Given the description of an element on the screen output the (x, y) to click on. 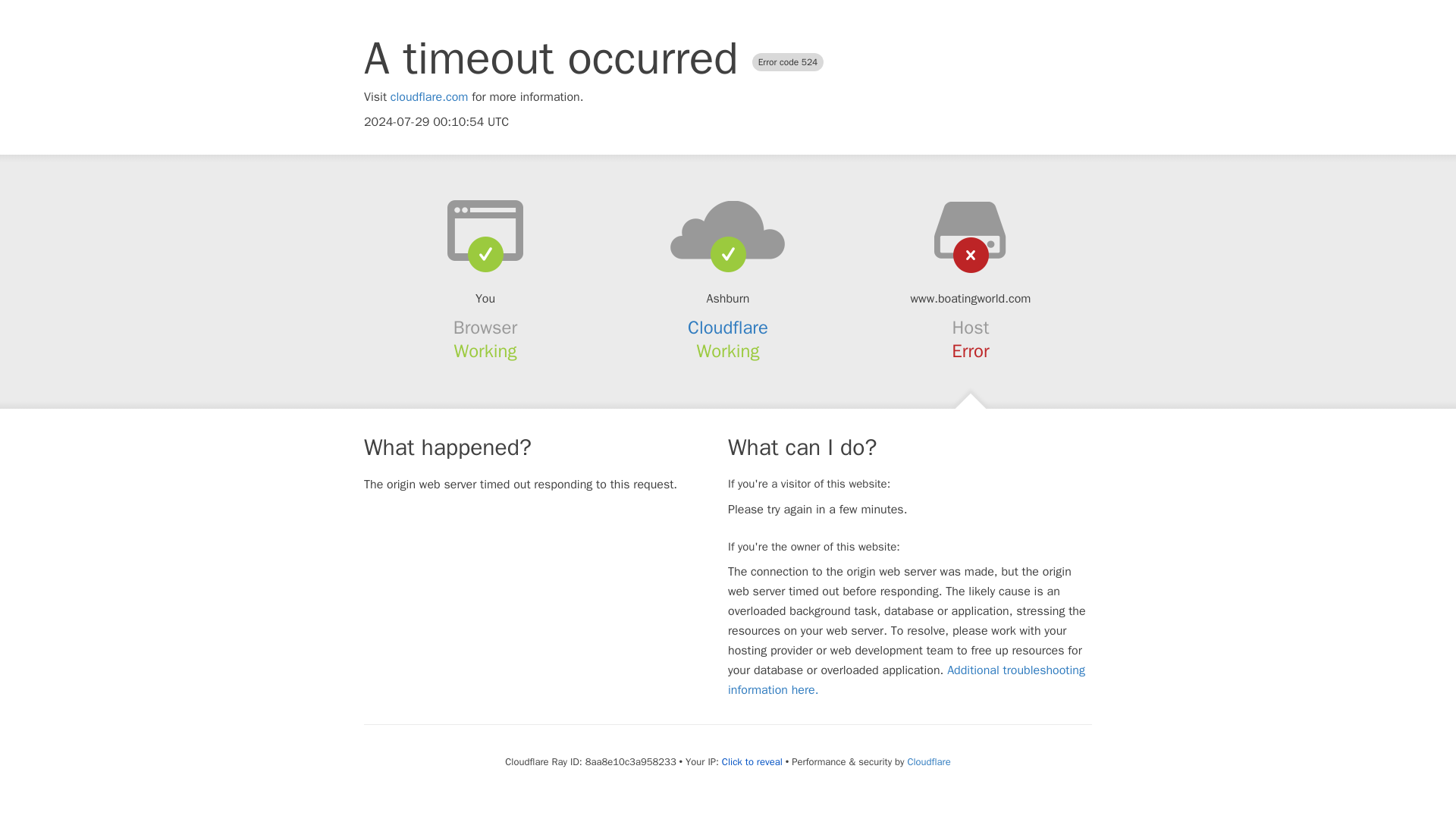
cloudflare.com (429, 96)
Cloudflare (727, 327)
Cloudflare (928, 761)
Additional troubleshooting information here. (906, 679)
Click to reveal (752, 762)
